Given the description of an element on the screen output the (x, y) to click on. 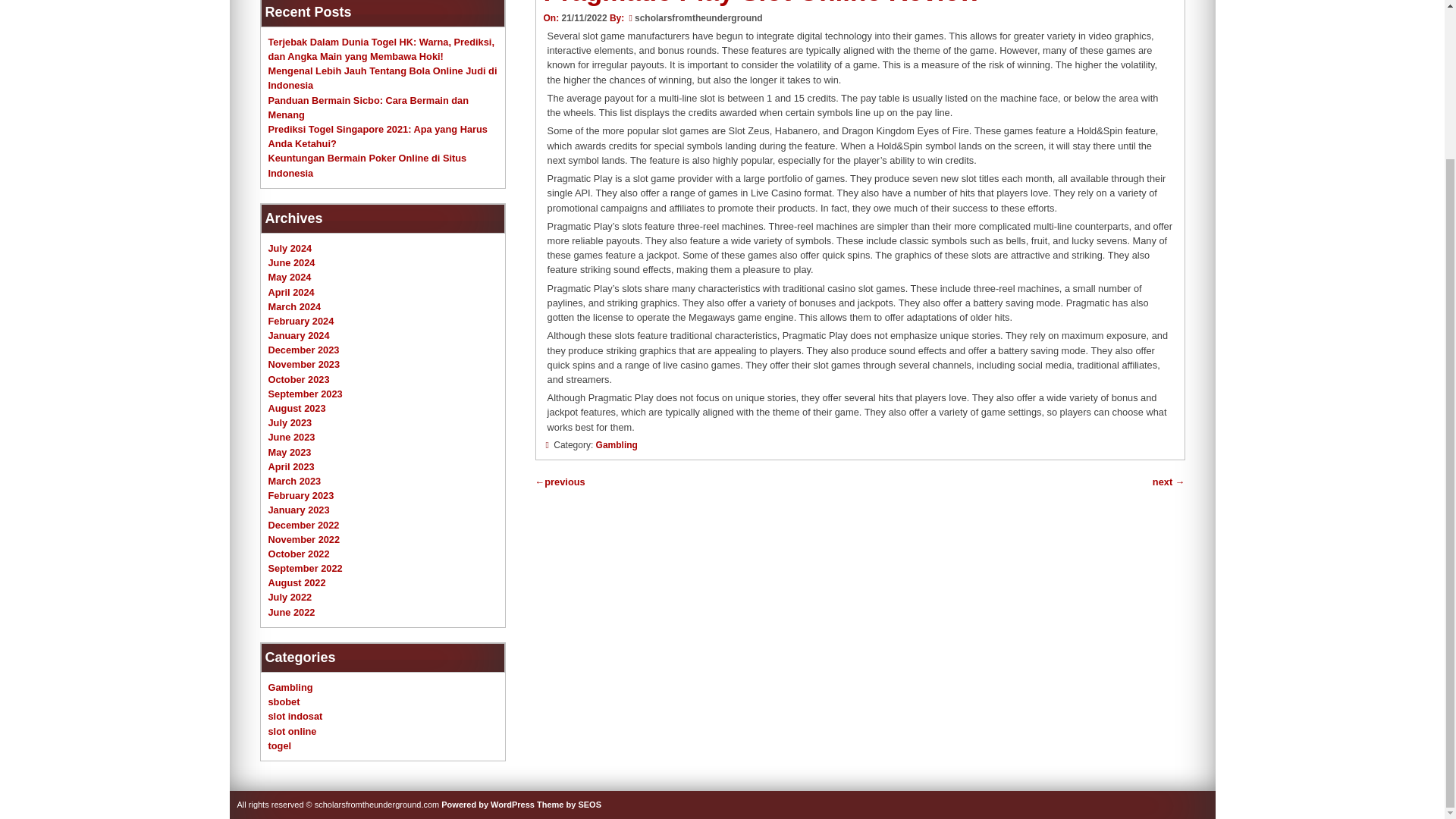
January 2024 (298, 335)
Mengenal Lebih Jauh Tentang Bola Online Judi di Indonesia (382, 77)
May 2024 (289, 276)
June 2022 (291, 612)
July 2022 (290, 596)
Prediksi Togel Singapore 2021: Apa yang Harus Anda Ketahui? (377, 136)
July 2023 (290, 422)
Keuntungan Bermain Poker Online di Situs Indonesia (367, 165)
March 2023 (294, 480)
February 2024 (300, 320)
February 2023 (300, 495)
April 2023 (290, 466)
March 2024 (294, 306)
October 2022 (298, 553)
October 2023 (298, 378)
